Given the description of an element on the screen output the (x, y) to click on. 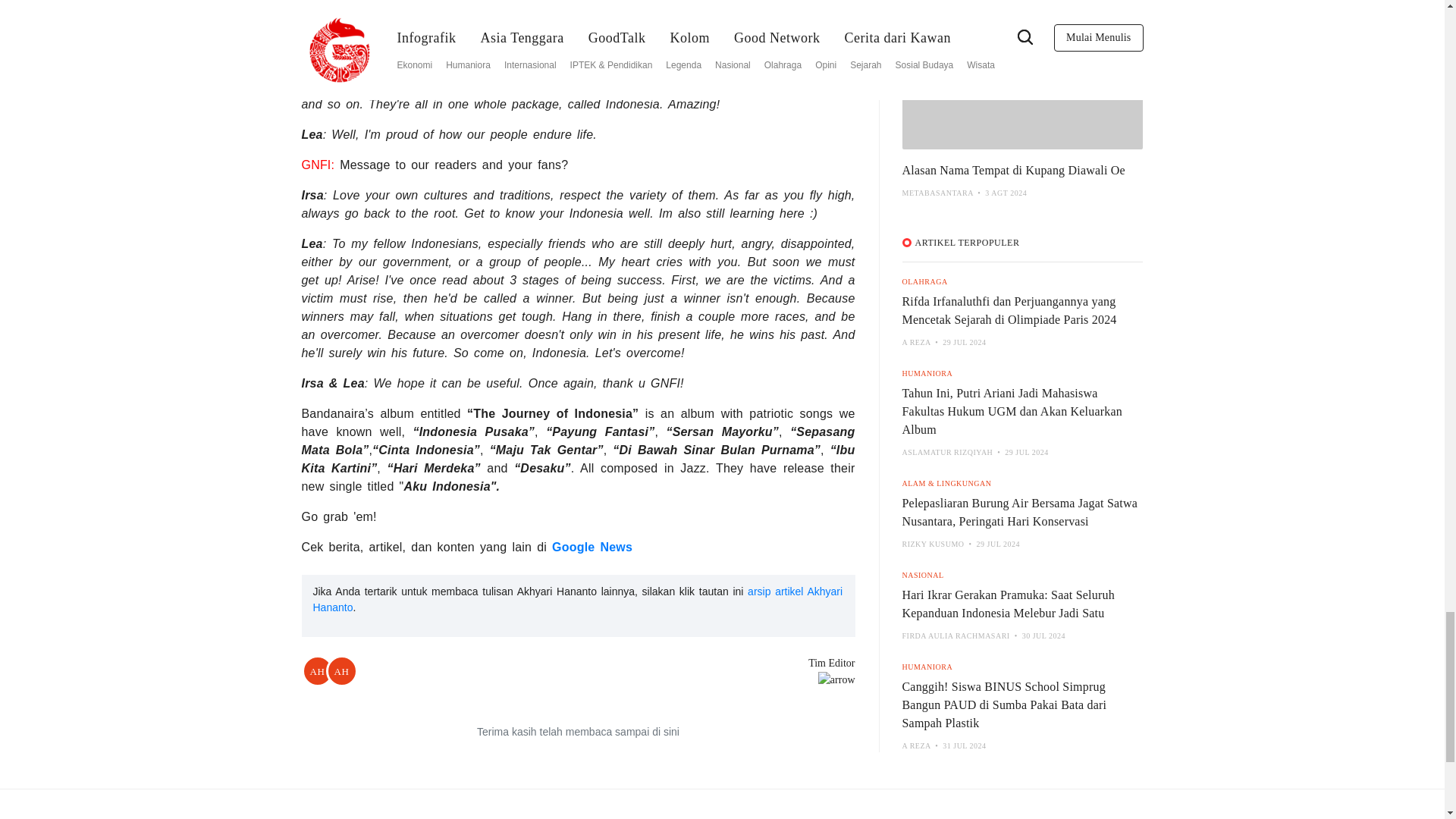
arsip artikel Akhyari Hananto (578, 599)
arsip (578, 599)
Terima kasih telah membaca sampai di sini (578, 731)
Google News (591, 545)
Google News Good News From Indonesia (591, 545)
Terima kasih telah membaca sampai di sini (578, 731)
